Given the description of an element on the screen output the (x, y) to click on. 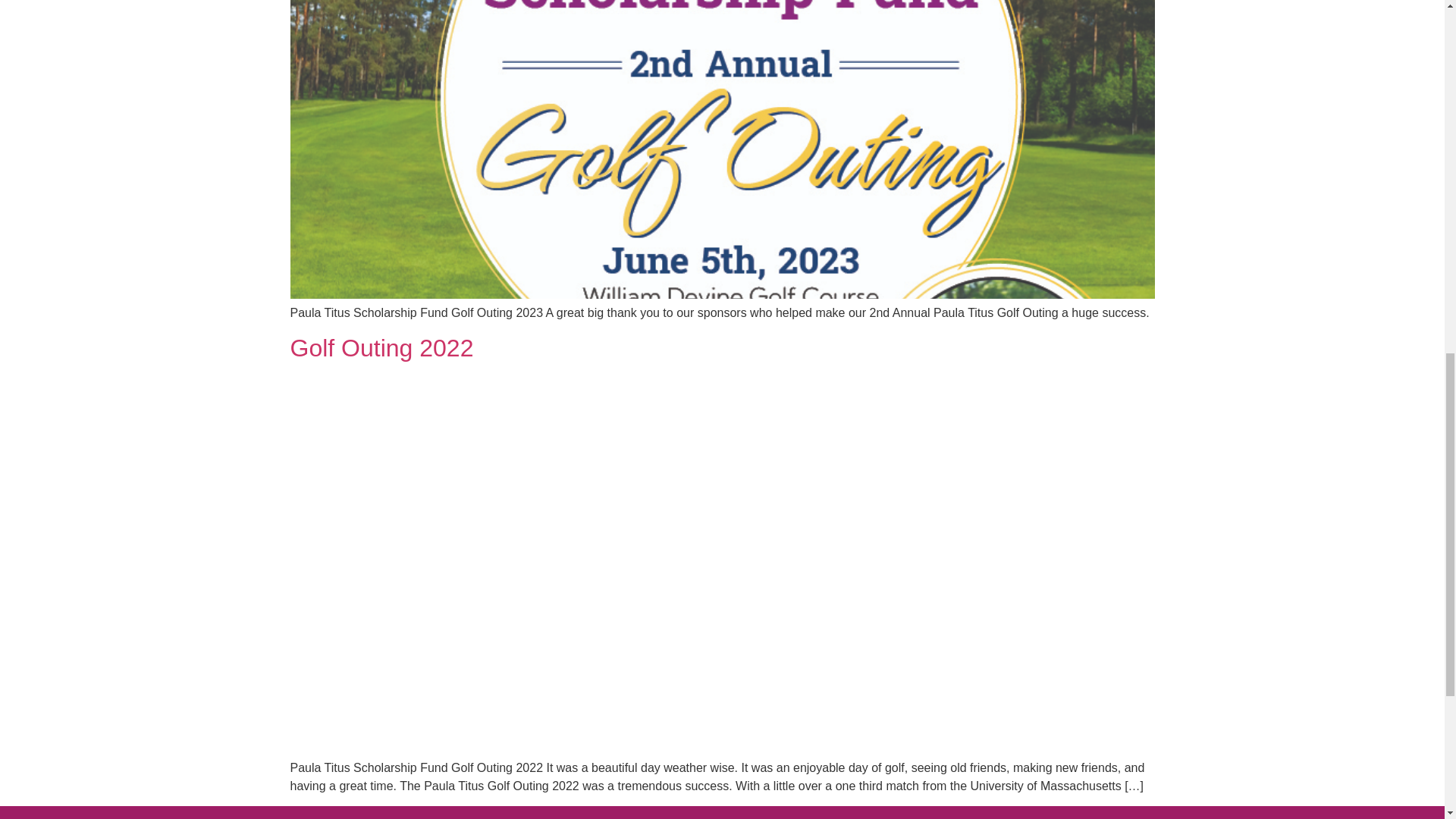
Golf Outing 2022 (381, 347)
